Given the description of an element on the screen output the (x, y) to click on. 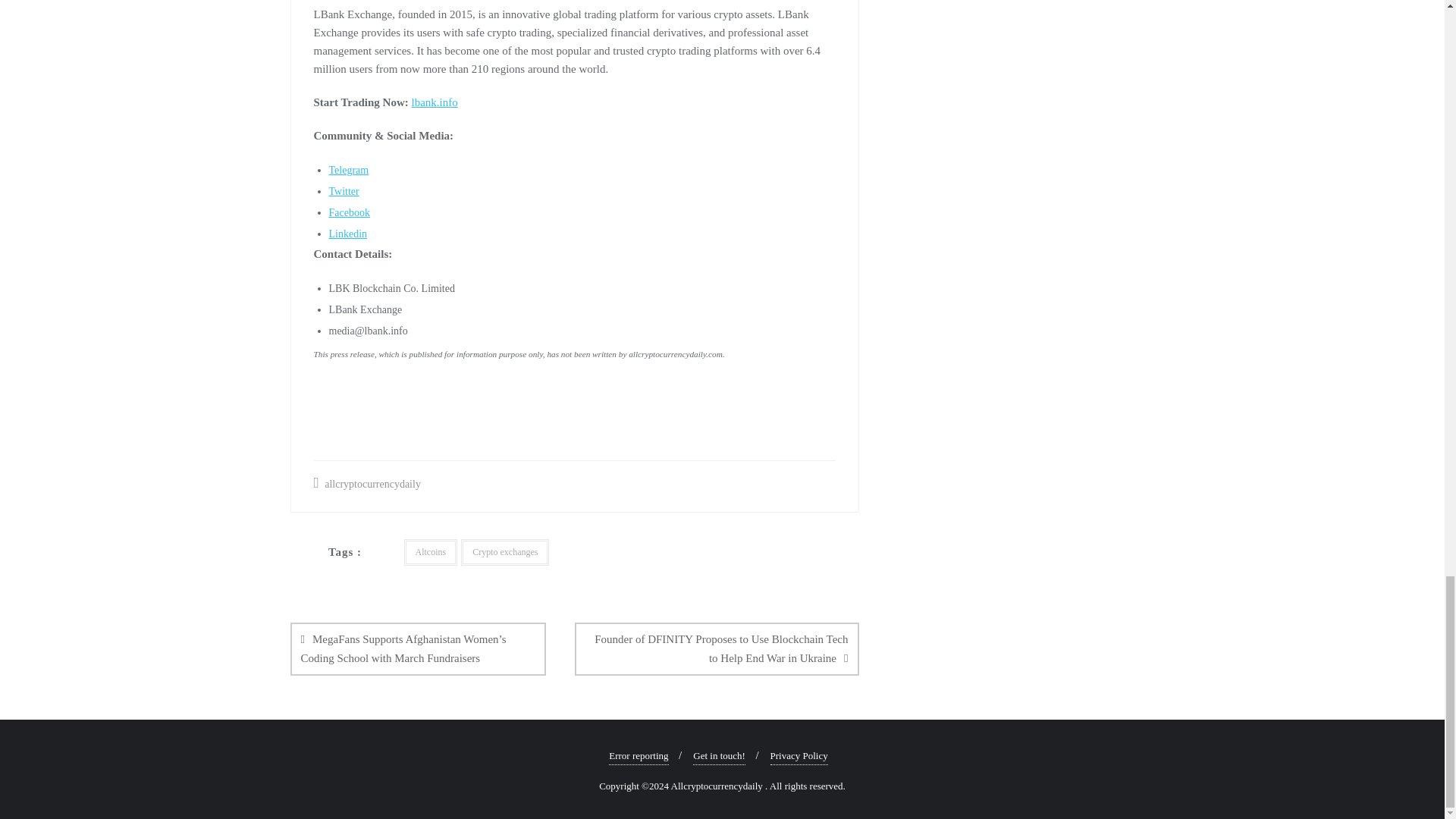
lbank.info (435, 102)
allcryptocurrencydaily (367, 484)
Telegram (349, 170)
Twitter (344, 191)
Altcoins (430, 551)
Crypto exchanges (504, 551)
Linkedin (348, 233)
Facebook (349, 212)
